Given the description of an element on the screen output the (x, y) to click on. 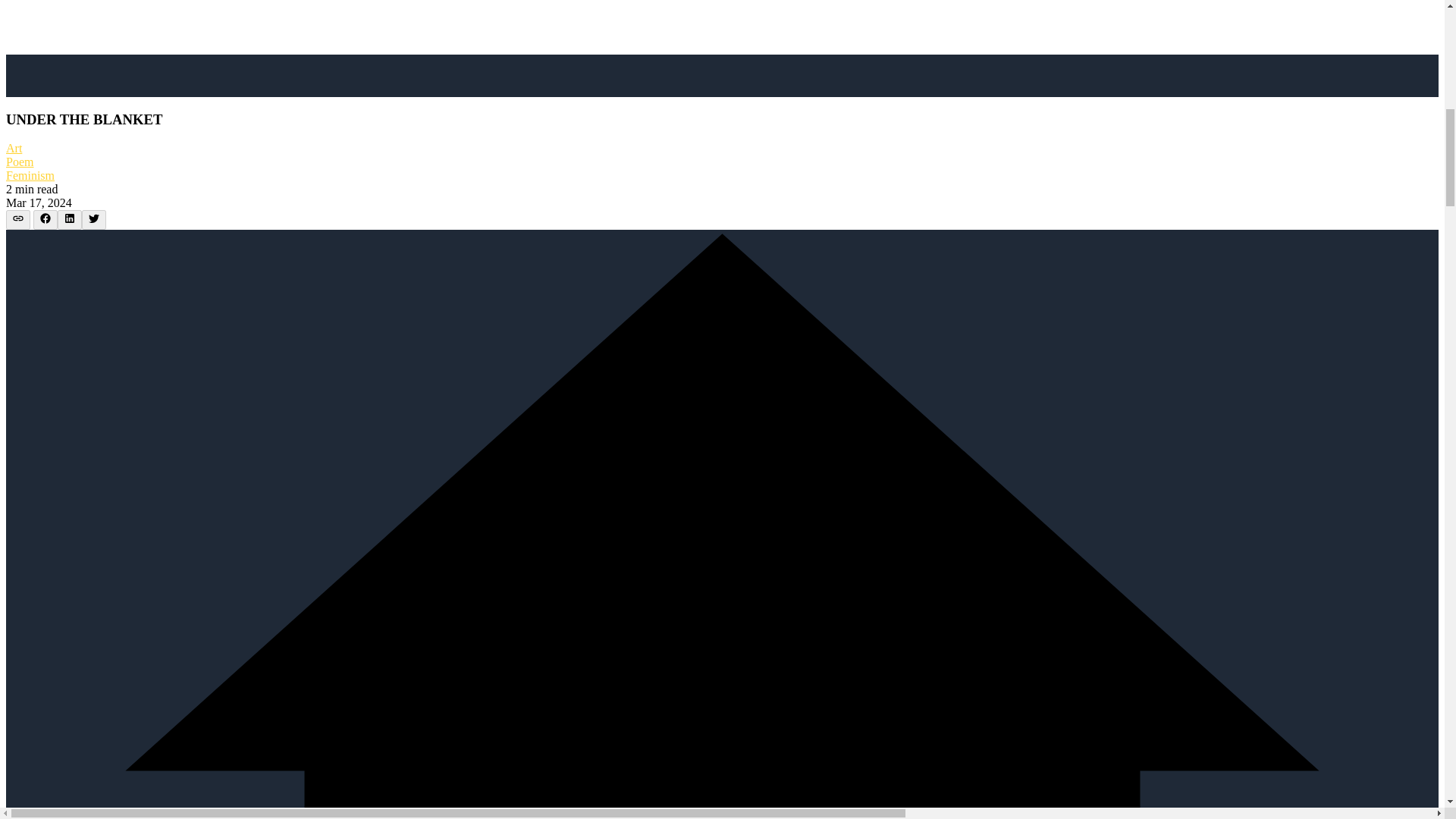
Share on Twitter (93, 219)
Share on LinkedIn (69, 219)
Copy Link (17, 219)
Share on Facebook (45, 219)
